Given the description of an element on the screen output the (x, y) to click on. 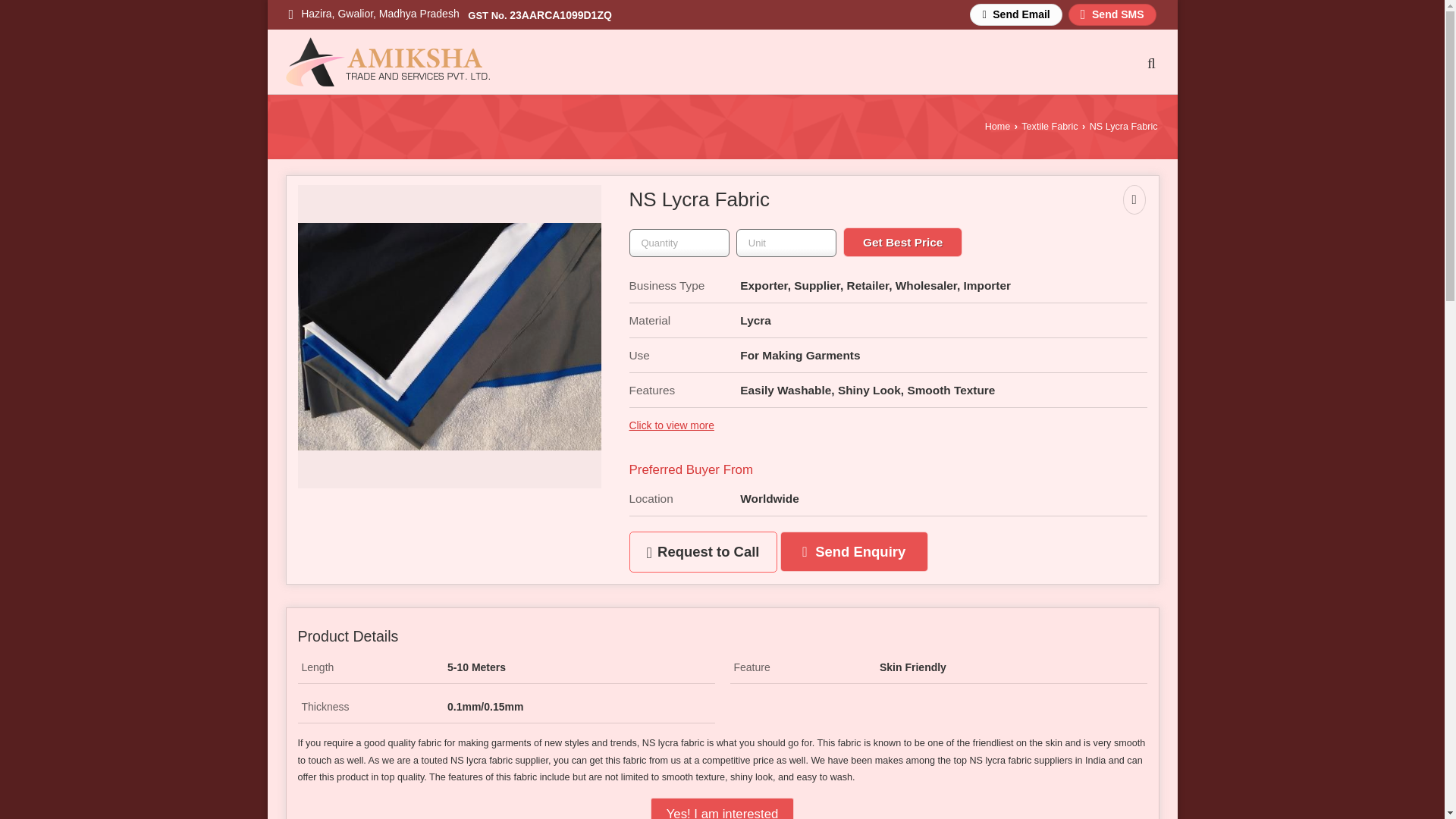
Request to Call (702, 551)
Click to view more (671, 425)
Amiksha Trade And Services Pvt. Ltd. (387, 61)
NS Lycra Fabric (448, 336)
Yes! I am interested (722, 808)
